Given the description of an element on the screen output the (x, y) to click on. 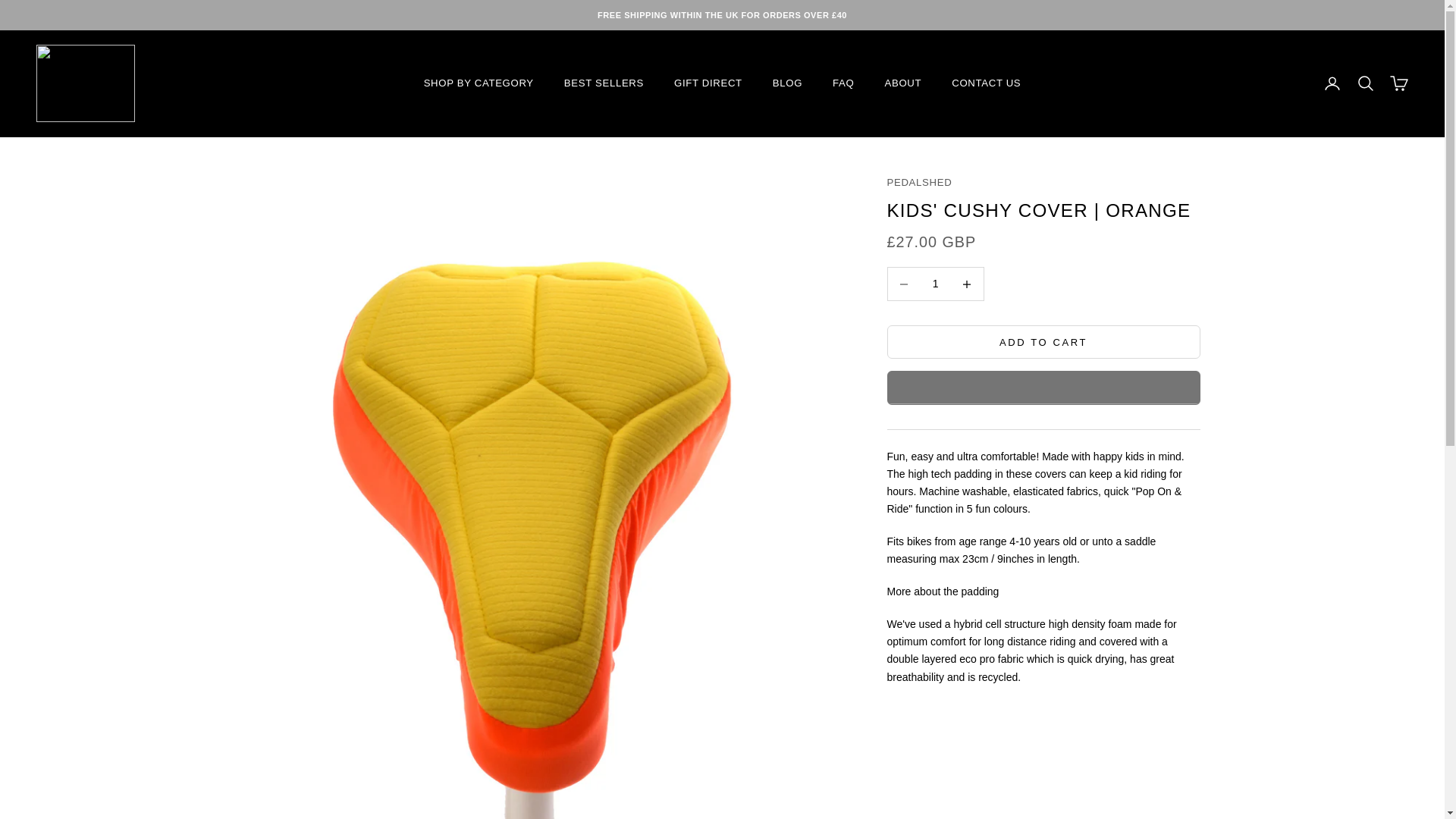
Pedalshed (85, 83)
1 (935, 283)
